Given the description of an element on the screen output the (x, y) to click on. 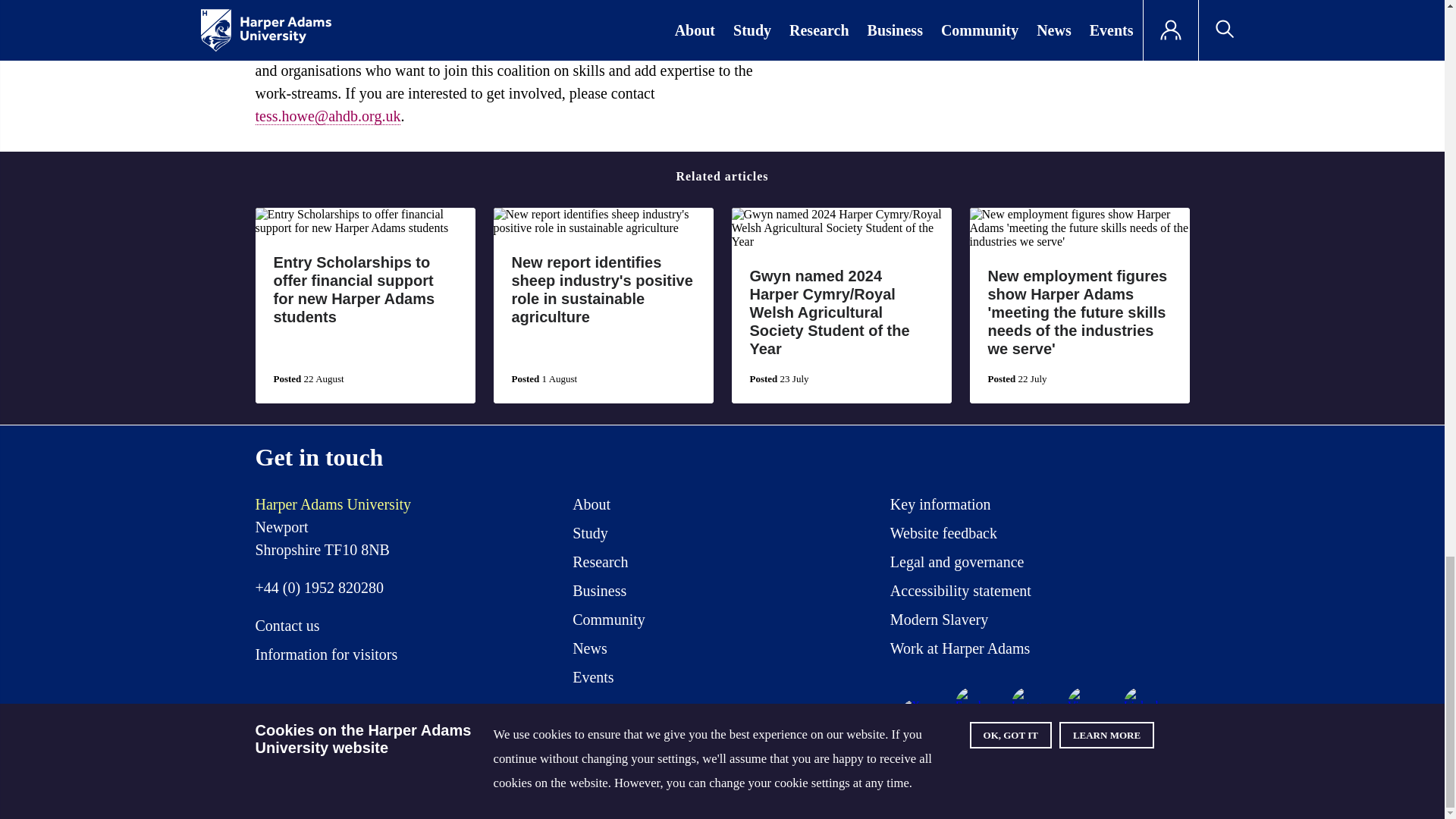
Instagram - opens in a new window (1028, 704)
X - opens in a new window (916, 716)
Facebook - opens in a new window (972, 704)
Modern Slavery Act PDF - opens in a new window (938, 622)
LinkedIn - opens in a new window (1141, 704)
Vimeo - opens in a new window (1084, 704)
